Given the description of an element on the screen output the (x, y) to click on. 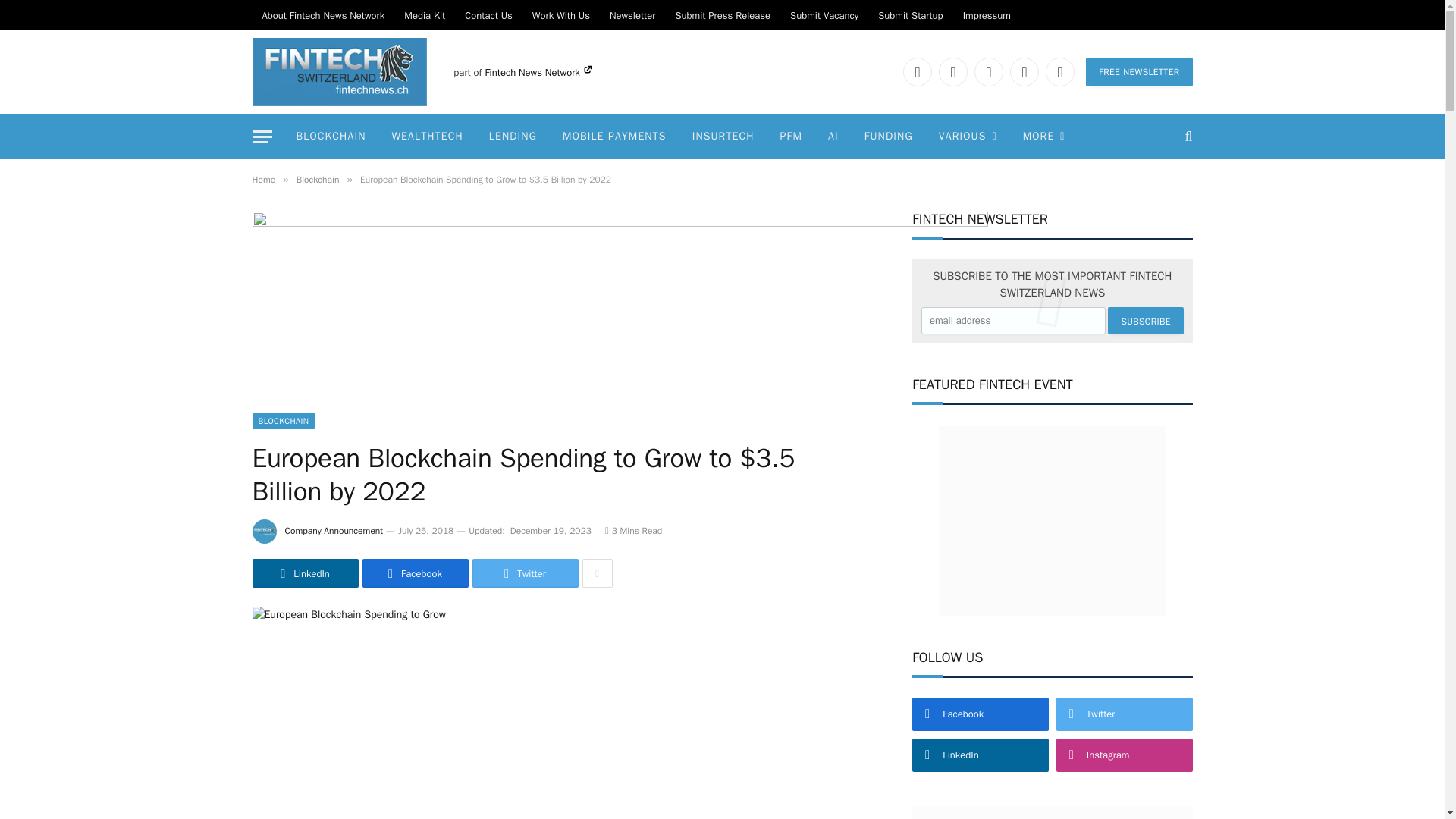
BLOCKCHAIN (330, 135)
Instagram (1024, 71)
Facebook (916, 71)
Newsletter (632, 15)
Submit Startup (909, 15)
MOBILE PAYMENTS (614, 135)
About Fintech News Network (322, 15)
PFM (791, 135)
LENDING (513, 135)
WEALTHTECH (427, 135)
Fintech News Network (537, 72)
FREE NEWSLETTER (1139, 71)
Contact Us (488, 15)
LinkedIn (953, 71)
Submit Press Release (722, 15)
